Given the description of an element on the screen output the (x, y) to click on. 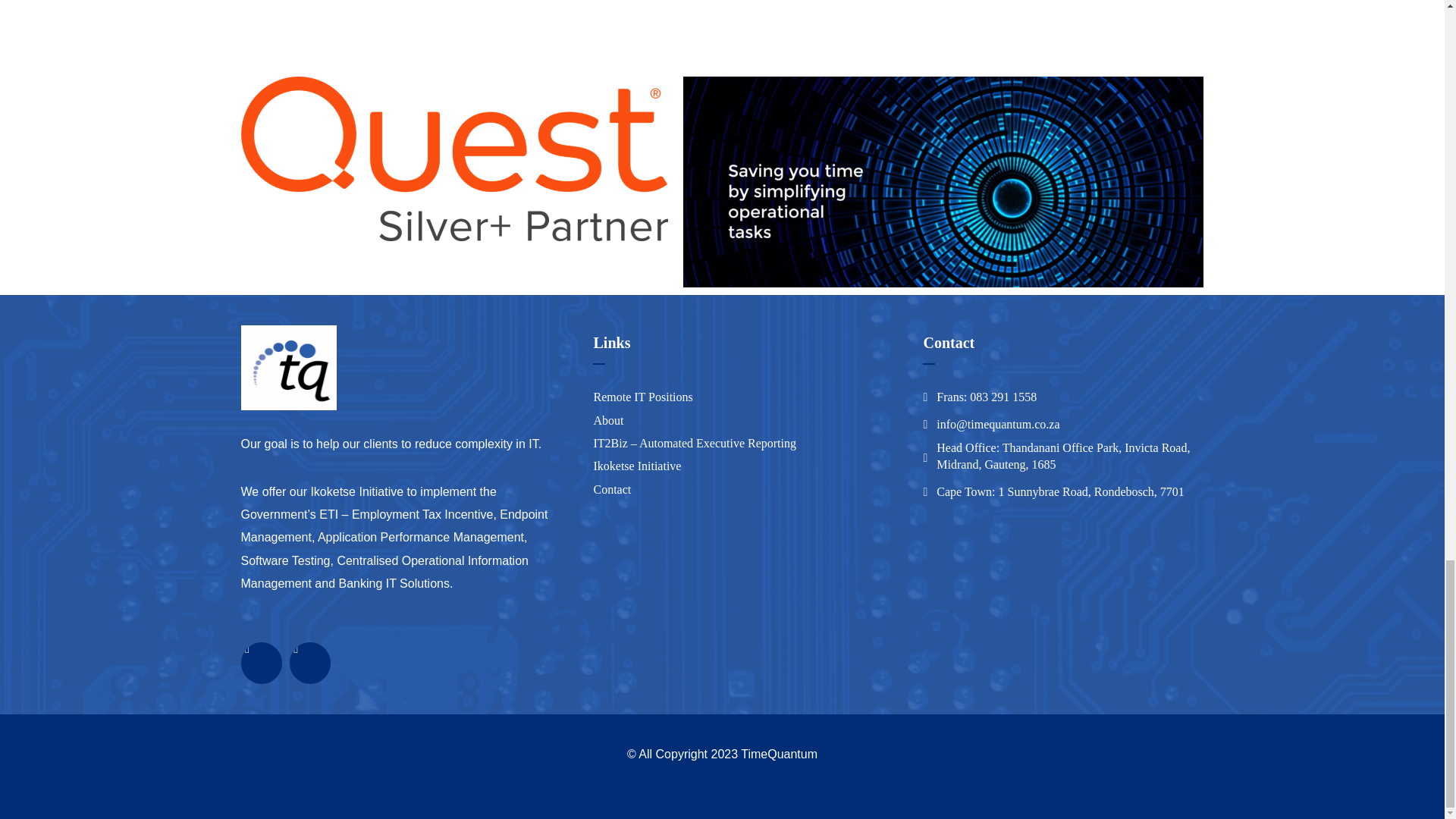
address (997, 424)
address (986, 397)
Cape Town: 1 Sunnybrae Road, Rondebosch, 7701 (1060, 492)
